Given the description of an element on the screen output the (x, y) to click on. 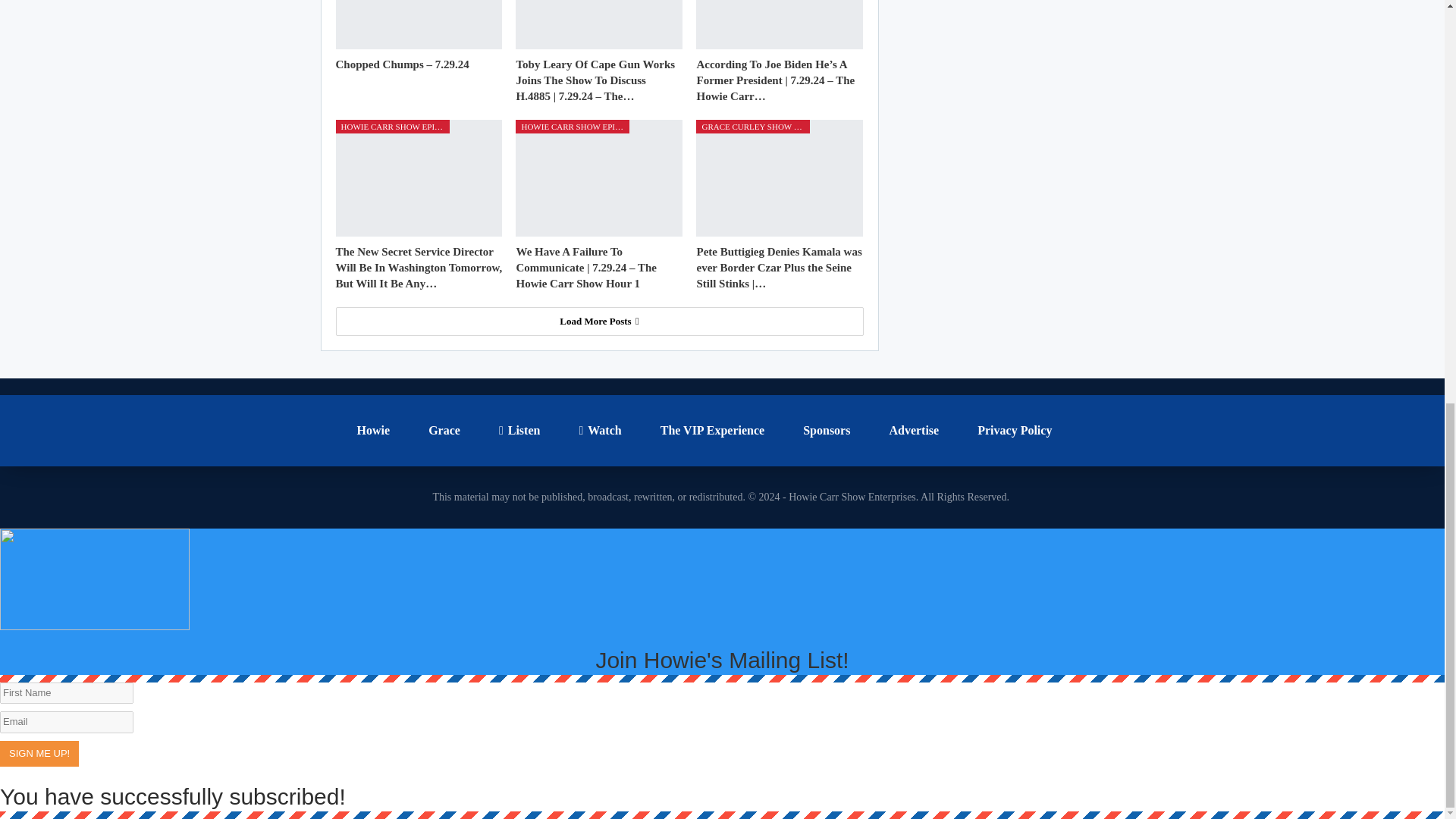
HOWIE CARR SHOW EPISODES (391, 126)
